Given the description of an element on the screen output the (x, y) to click on. 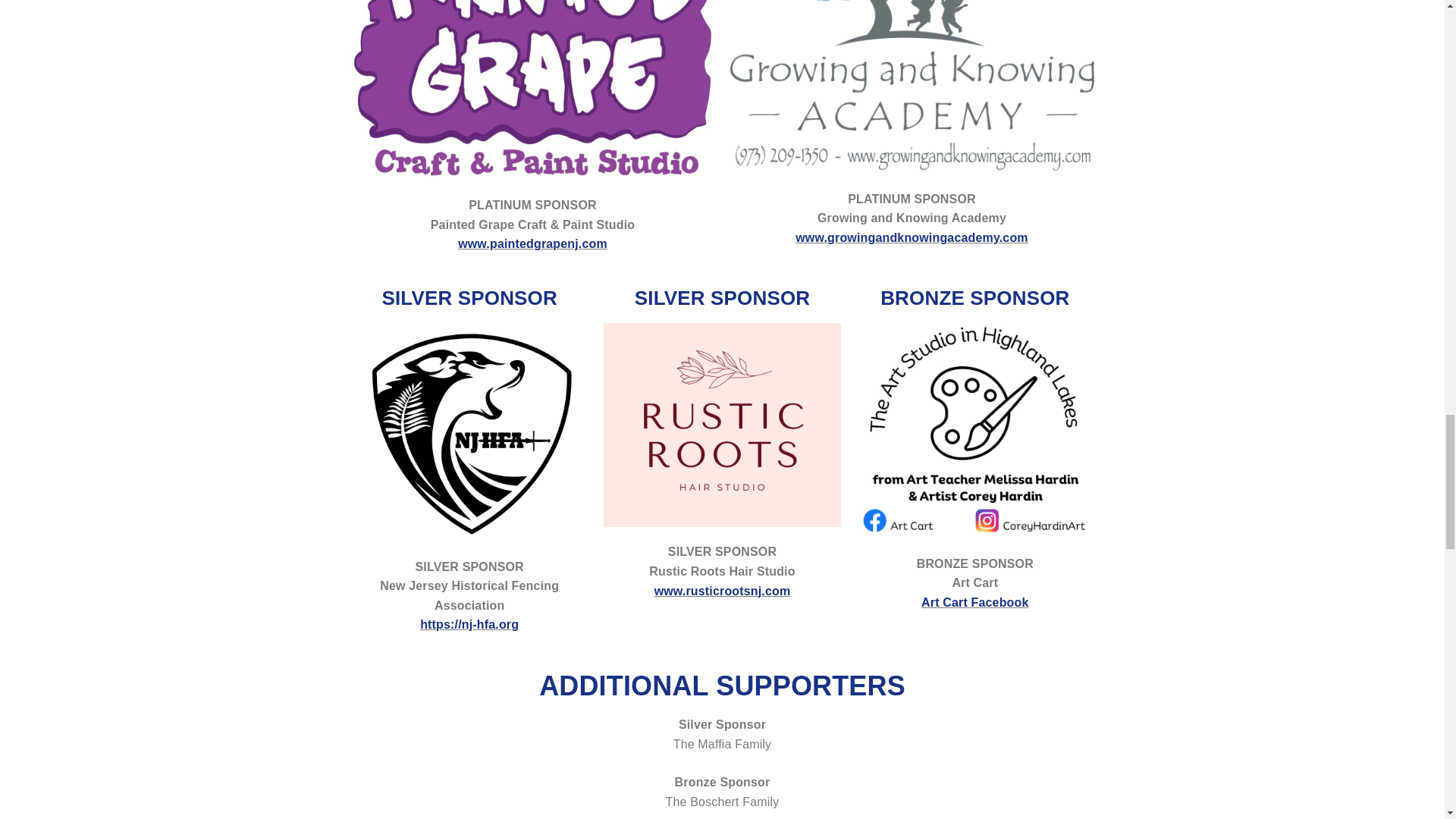
www.paintedgrapenj.com (532, 243)
